Given the description of an element on the screen output the (x, y) to click on. 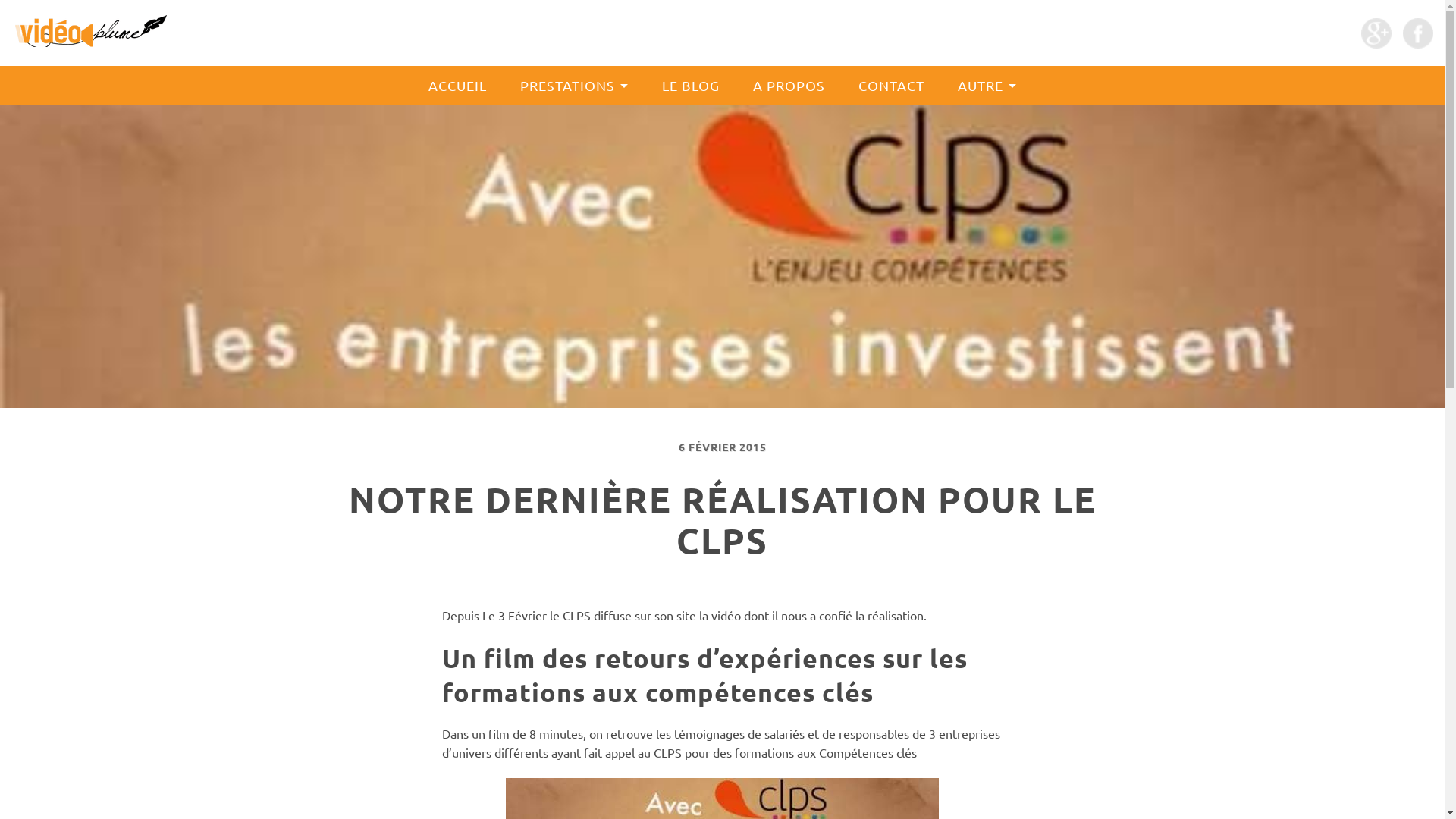
CONTACT Element type: text (890, 84)
A PROPOS Element type: text (788, 84)
ACCUEIL Element type: text (457, 84)
PRESTATIONS Element type: text (573, 84)
AUTRE Element type: text (987, 84)
LE BLOG Element type: text (690, 84)
